Given the description of an element on the screen output the (x, y) to click on. 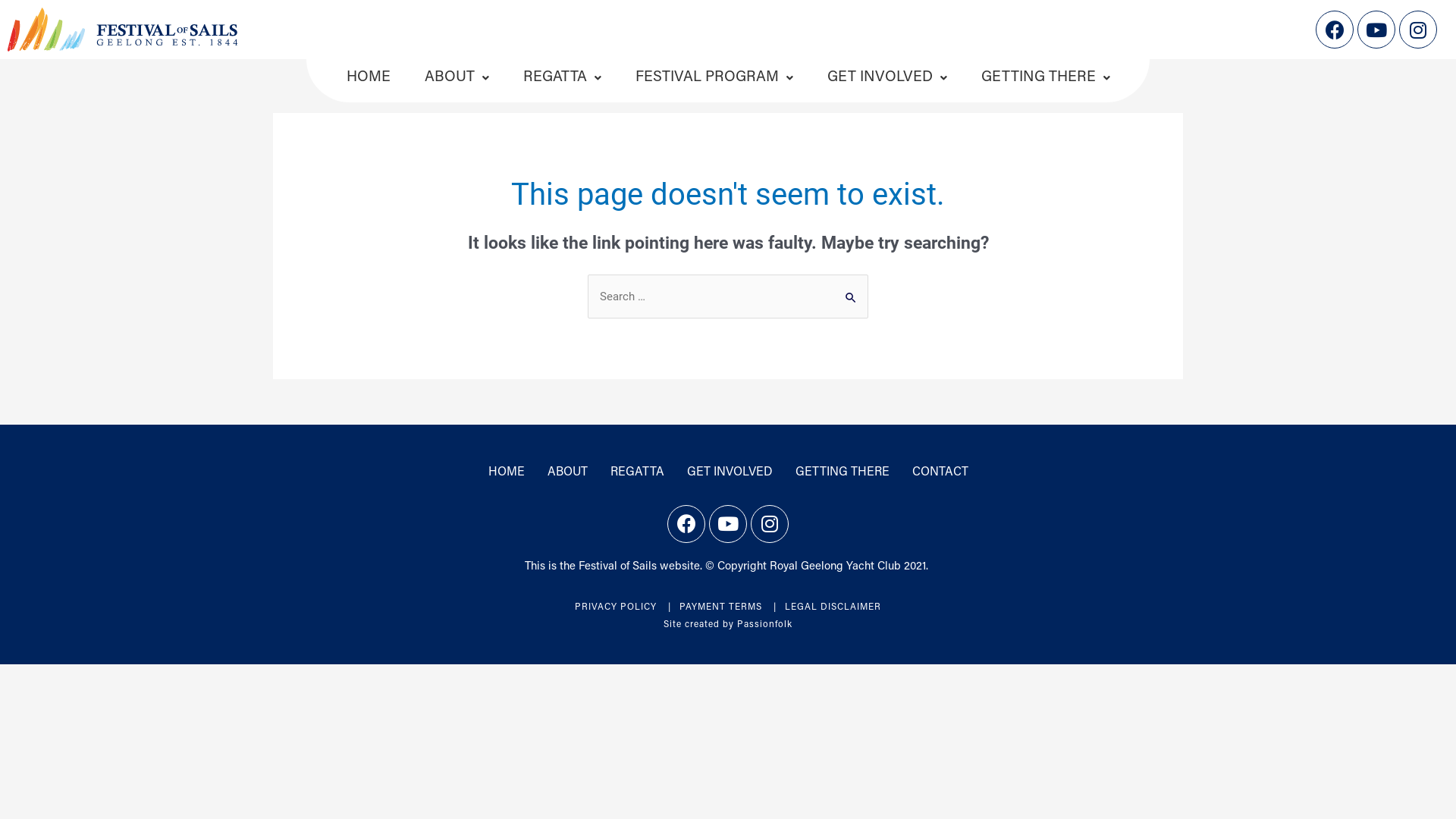
PAYMENT TERMS Element type: text (720, 607)
HOME Element type: text (505, 472)
GET INVOLVED Element type: text (886, 80)
Site created by Passionfolk Element type: text (727, 624)
PRIVACY POLICY Element type: text (615, 607)
HOME Element type: text (368, 80)
REGATTA Element type: text (561, 80)
ABOUT Element type: text (566, 472)
Search Element type: text (851, 289)
CONTACT Element type: text (939, 472)
GETTING THERE Element type: text (842, 472)
REGATTA Element type: text (637, 472)
FESTIVAL PROGRAM Element type: text (713, 80)
GETTING THERE Element type: text (1044, 80)
ABOUT Element type: text (456, 80)
LEGAL DISCLAIMER Element type: text (832, 607)
GET INVOLVED Element type: text (728, 472)
